Given the description of an element on the screen output the (x, y) to click on. 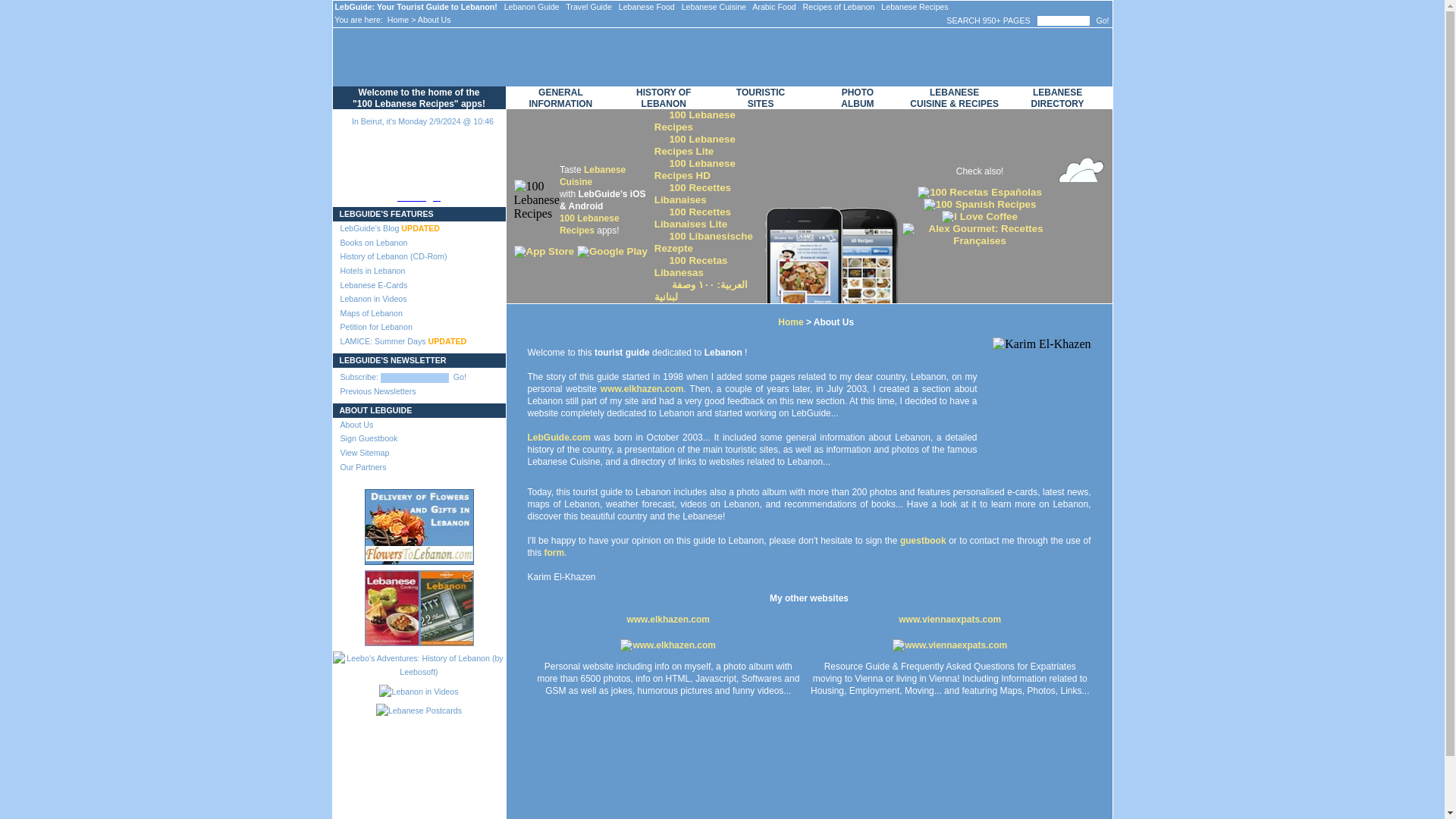
View Sitemap (418, 452)
100 Recettes Libanaises (691, 193)
Send Your Own Personalised Lebanese Cards (418, 284)
Previous Newsletters (418, 391)
About Us (418, 424)
100 Lebanese Recipes (589, 223)
Maps of Lebanon (418, 313)
Hotels in Lebanon (418, 270)
Books on Lebanon (418, 242)
Lebanese Books Recommended by LebGuide.com! (418, 242)
